Given the description of an element on the screen output the (x, y) to click on. 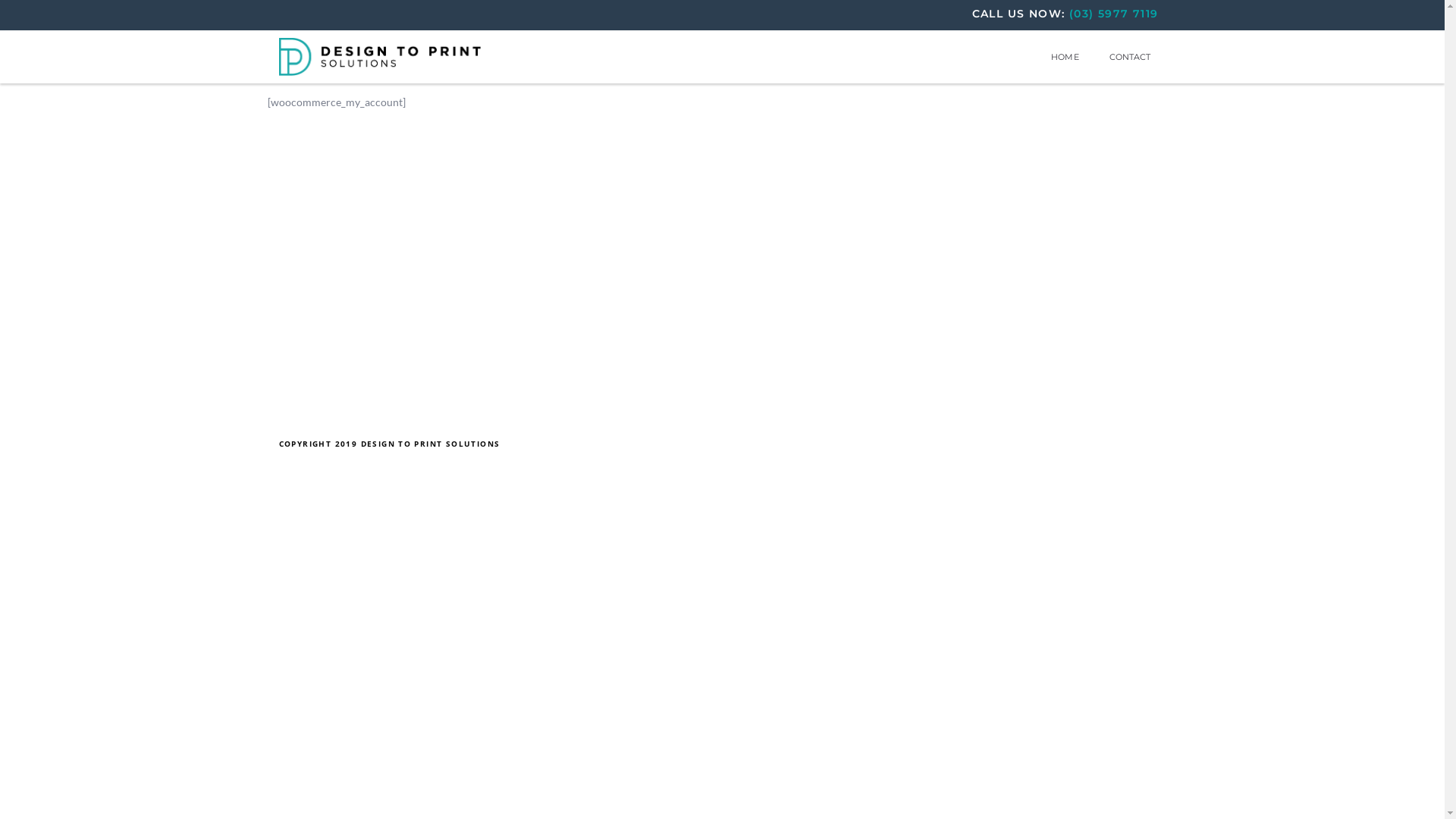
(03) 5977 7119 Element type: text (1117, 13)
CONTACT Element type: text (1130, 56)
HOME Element type: text (1064, 56)
